Given the description of an element on the screen output the (x, y) to click on. 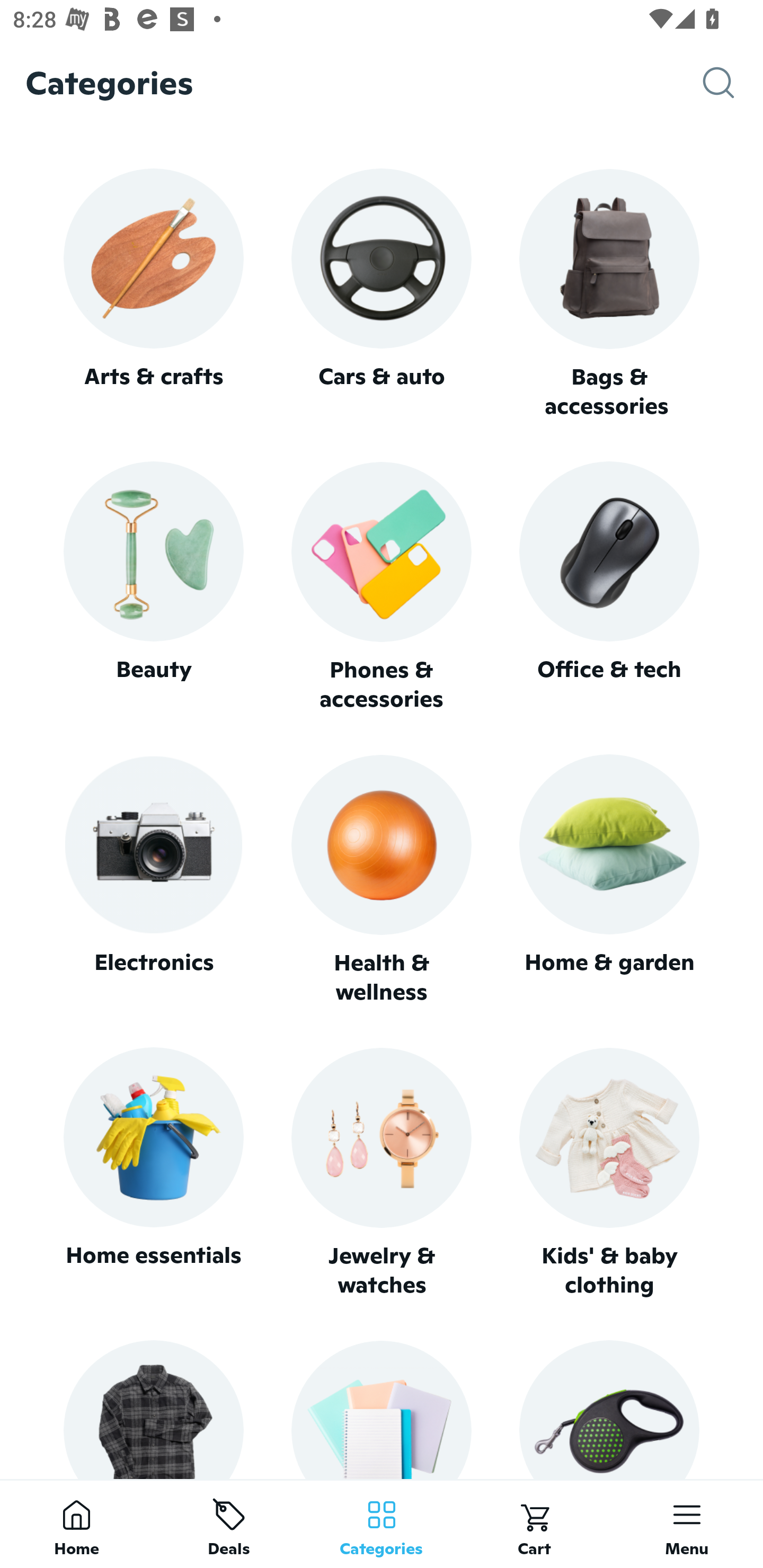
Search (732, 82)
Arts & crafts (153, 293)
Cars & auto (381, 293)
Bags & accessories  (609, 294)
Beauty (153, 586)
Office & tech (609, 586)
Phones & accessories (381, 587)
Electronics (153, 880)
Home & garden (609, 880)
Health & wellness (381, 880)
Home essentials (153, 1172)
Jewelry & watches (381, 1172)
Kids' & baby clothing (609, 1172)
Men's clothing (153, 1409)
Pet supplies (609, 1409)
Office & school supplies (381, 1409)
Home (76, 1523)
Deals (228, 1523)
Categories (381, 1523)
Cart (533, 1523)
Menu (686, 1523)
